Given the description of an element on the screen output the (x, y) to click on. 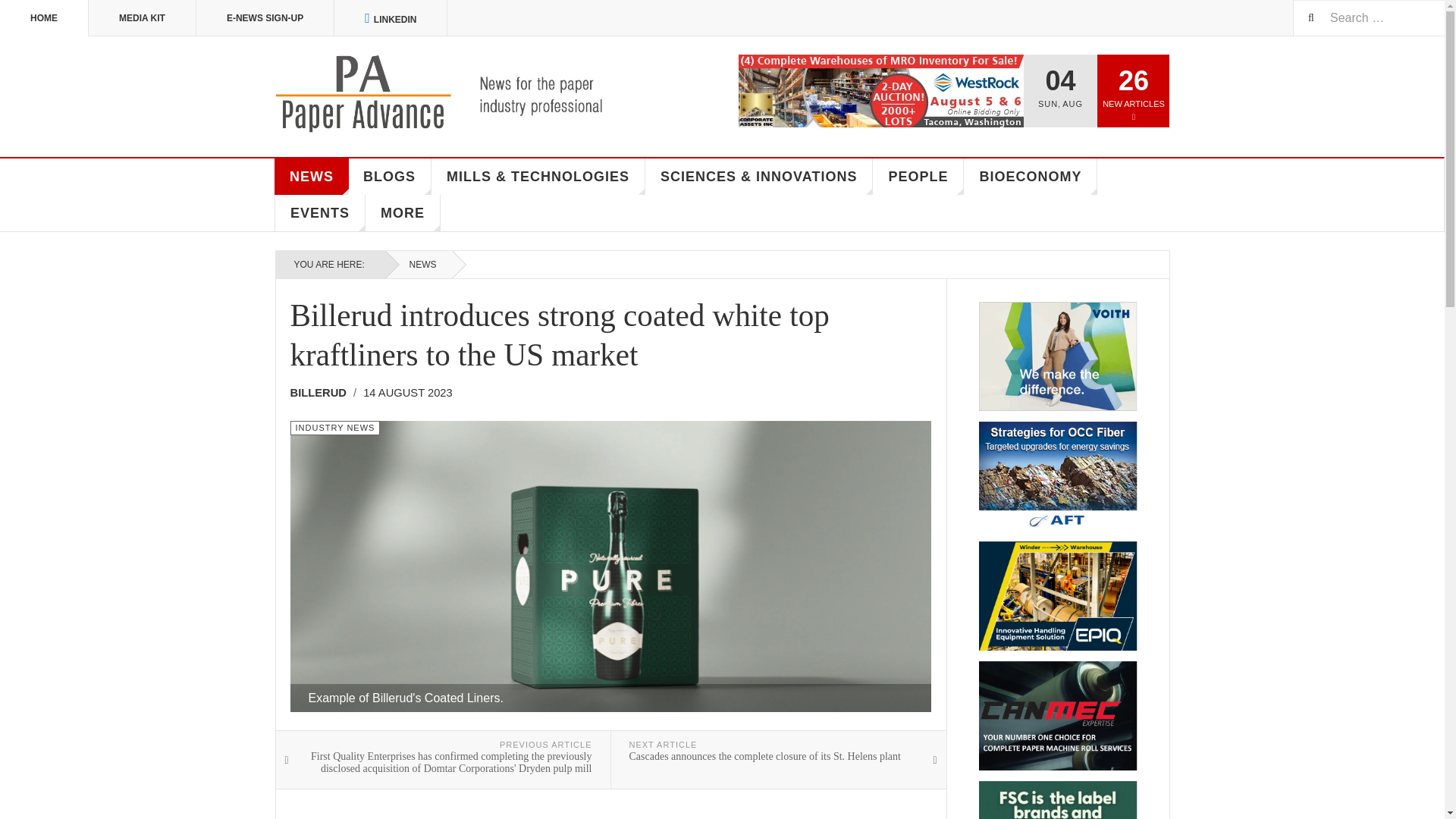
Paper Advance (461, 93)
HOME (44, 18)
MEDIA KIT (142, 18)
NEWS (312, 176)
LINKEDIN (390, 18)
E-NEWS SIGN-UP (265, 18)
